Given the description of an element on the screen output the (x, y) to click on. 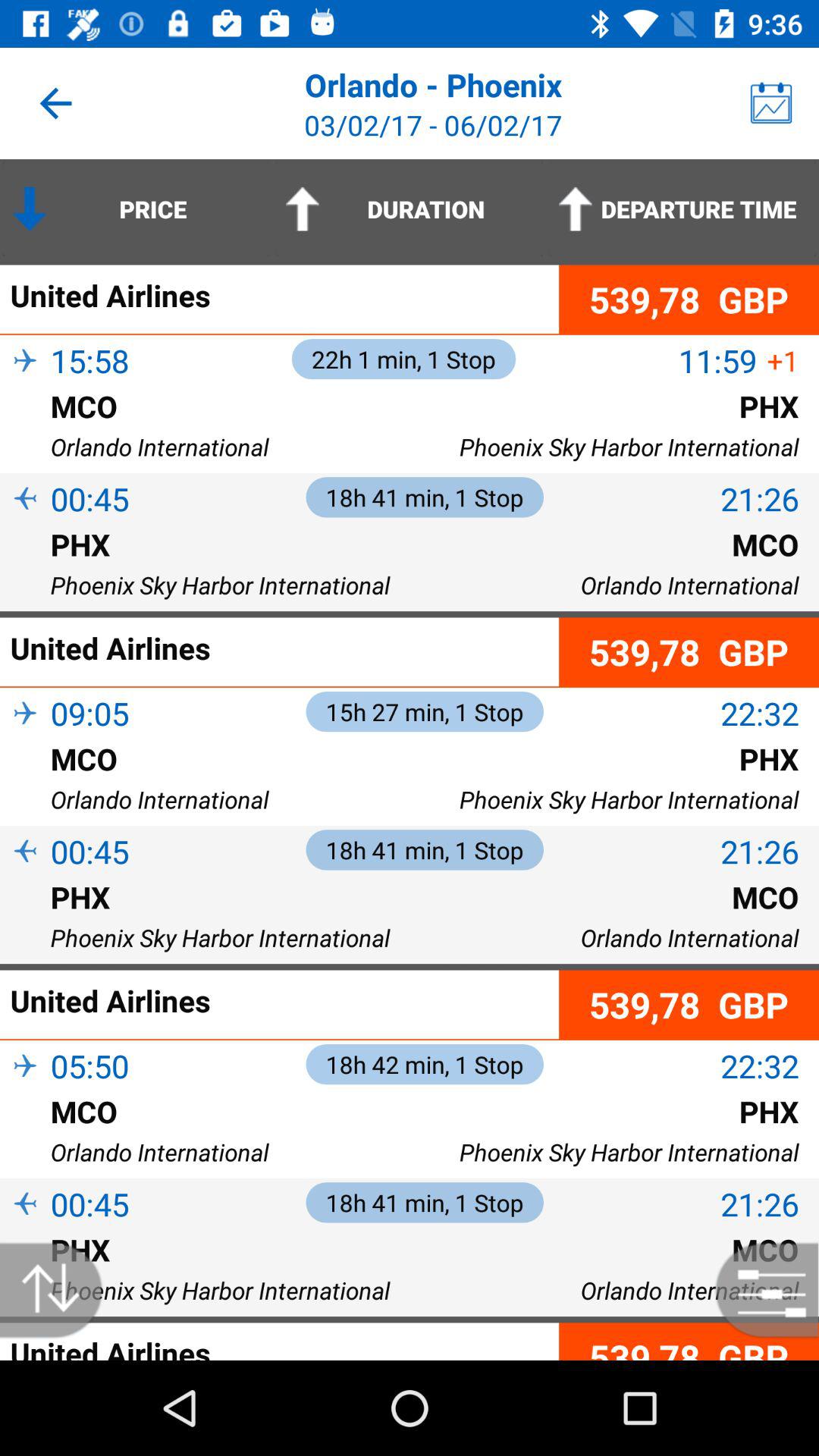
reverse directions (59, 1290)
